Given the description of an element on the screen output the (x, y) to click on. 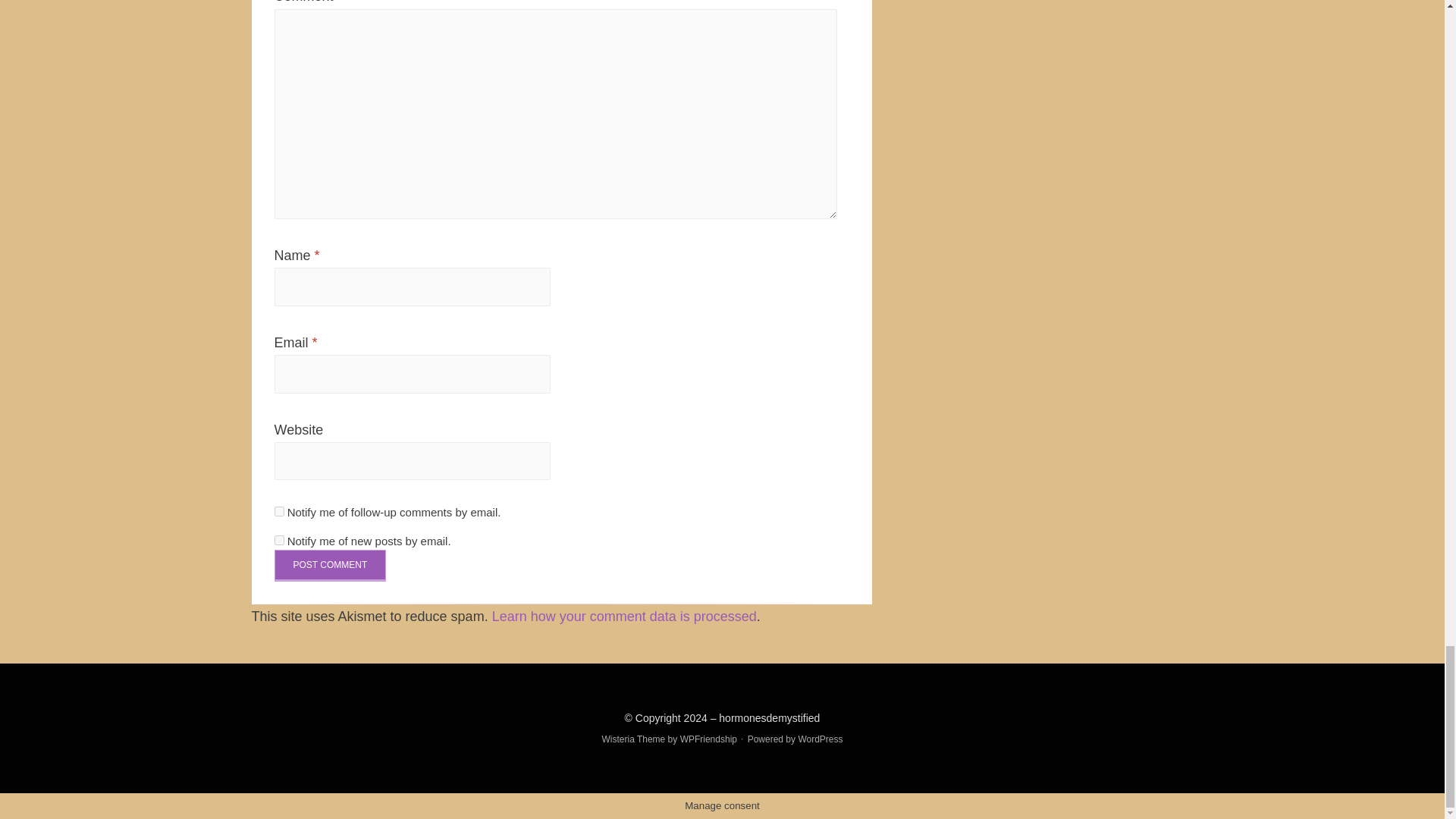
Post Comment (331, 565)
WPFriendship (707, 738)
subscribe (279, 511)
WordPress (820, 738)
subscribe (279, 540)
